Given the description of an element on the screen output the (x, y) to click on. 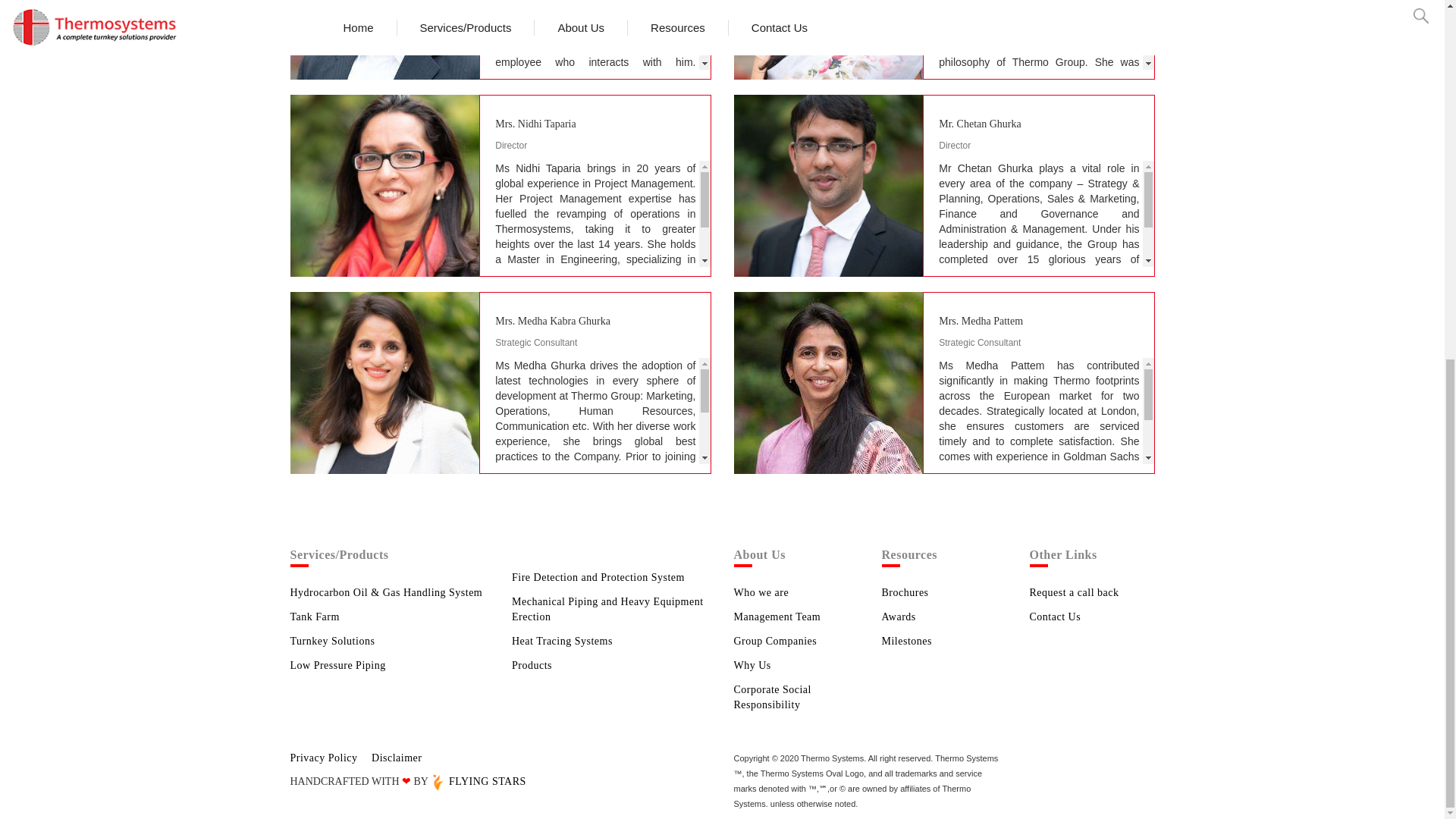
Tank Farm (314, 616)
Turnkey Solutions (331, 641)
Mechanical Piping and Heavy Equipment Erection (607, 609)
Corporate Social Responsibility (771, 696)
Fire Detection and Protection System (598, 577)
Heat Tracing Systems (562, 641)
Group Companies (774, 641)
Why Us (752, 665)
Low Pressure Piping (337, 665)
Brochures (904, 592)
